Given the description of an element on the screen output the (x, y) to click on. 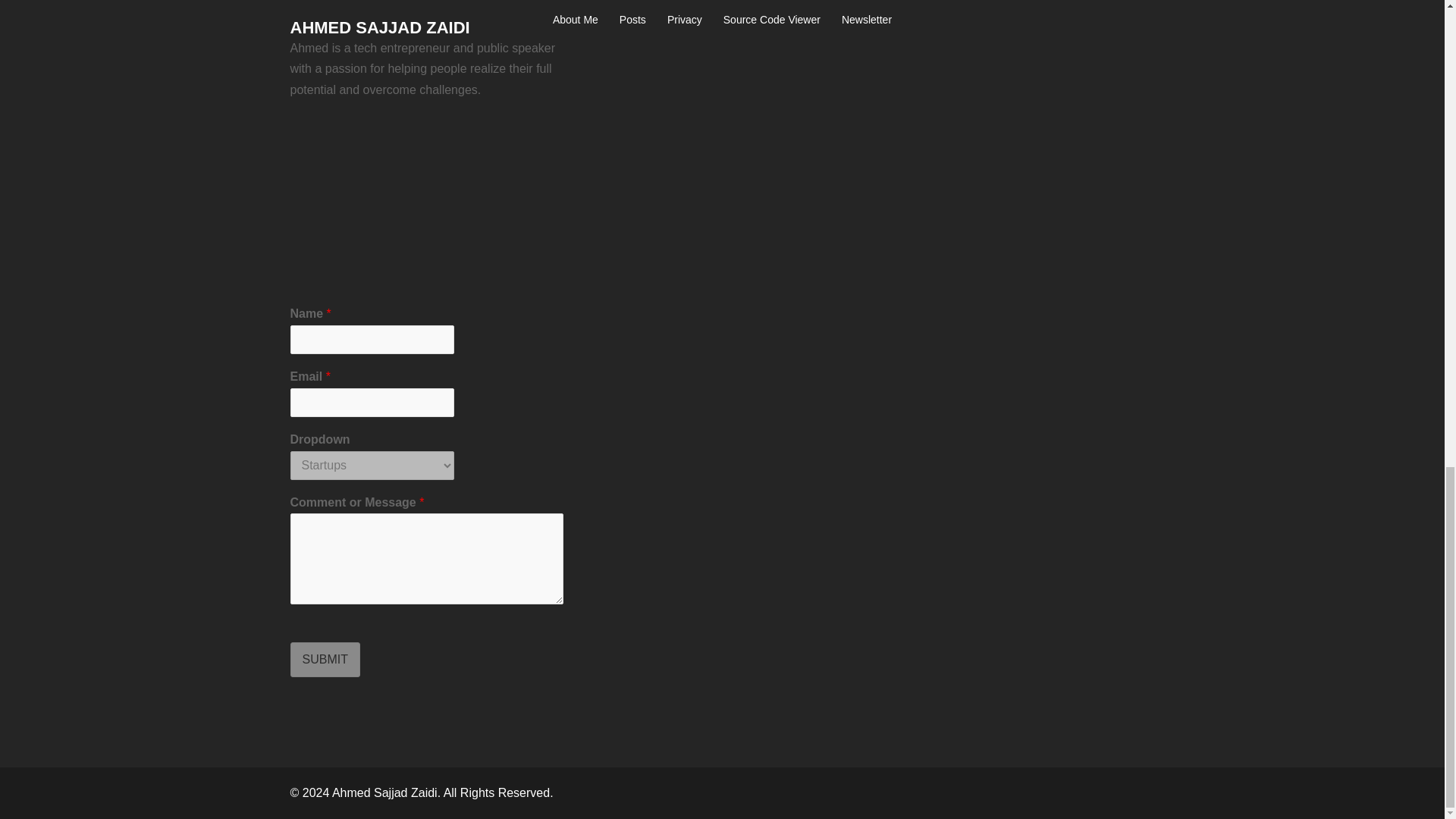
About Ahmed Sajjad Zaidi (425, 199)
